Given the description of an element on the screen output the (x, y) to click on. 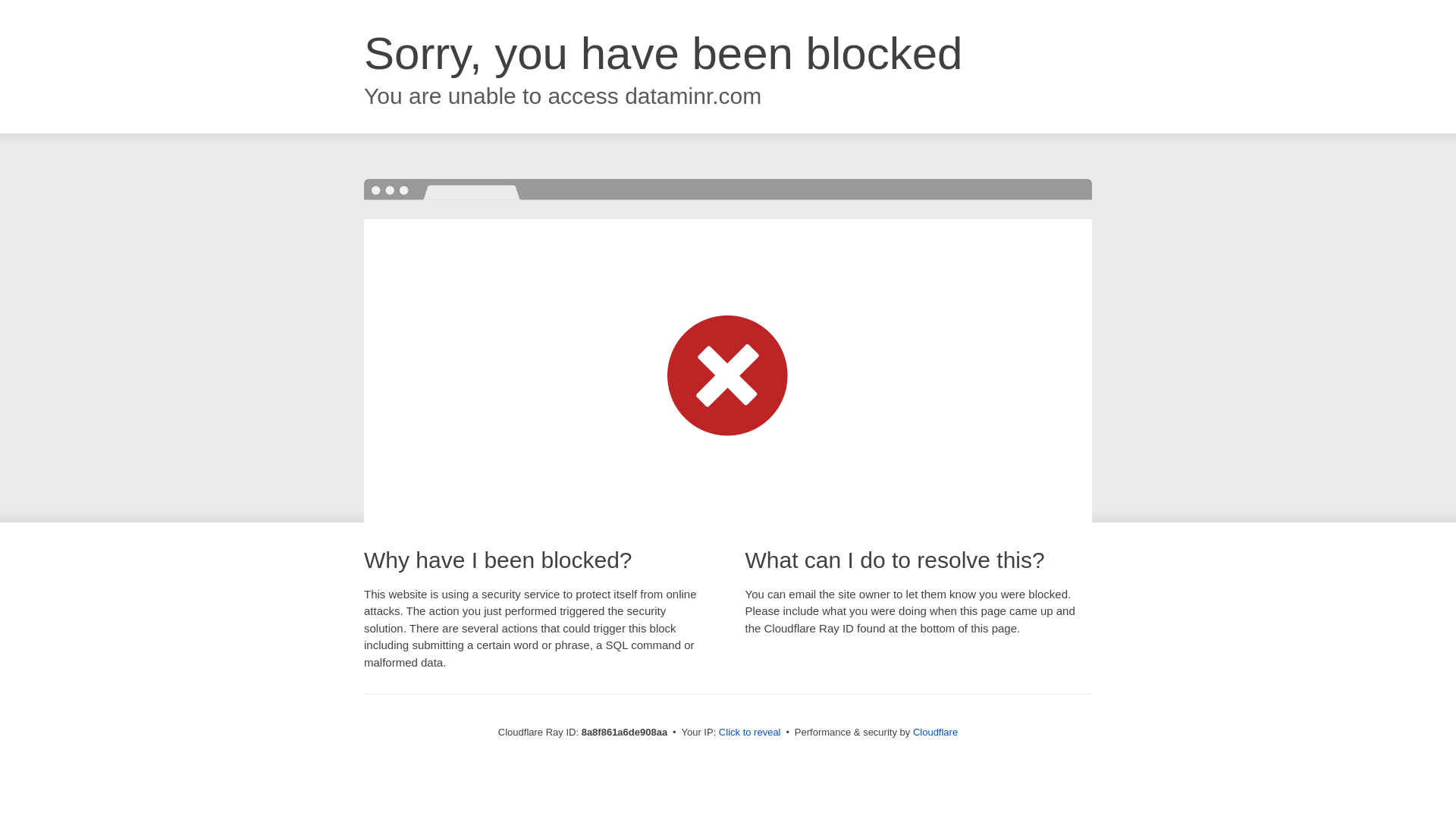
Click to reveal (749, 732)
Cloudflare (935, 731)
